Given the description of an element on the screen output the (x, y) to click on. 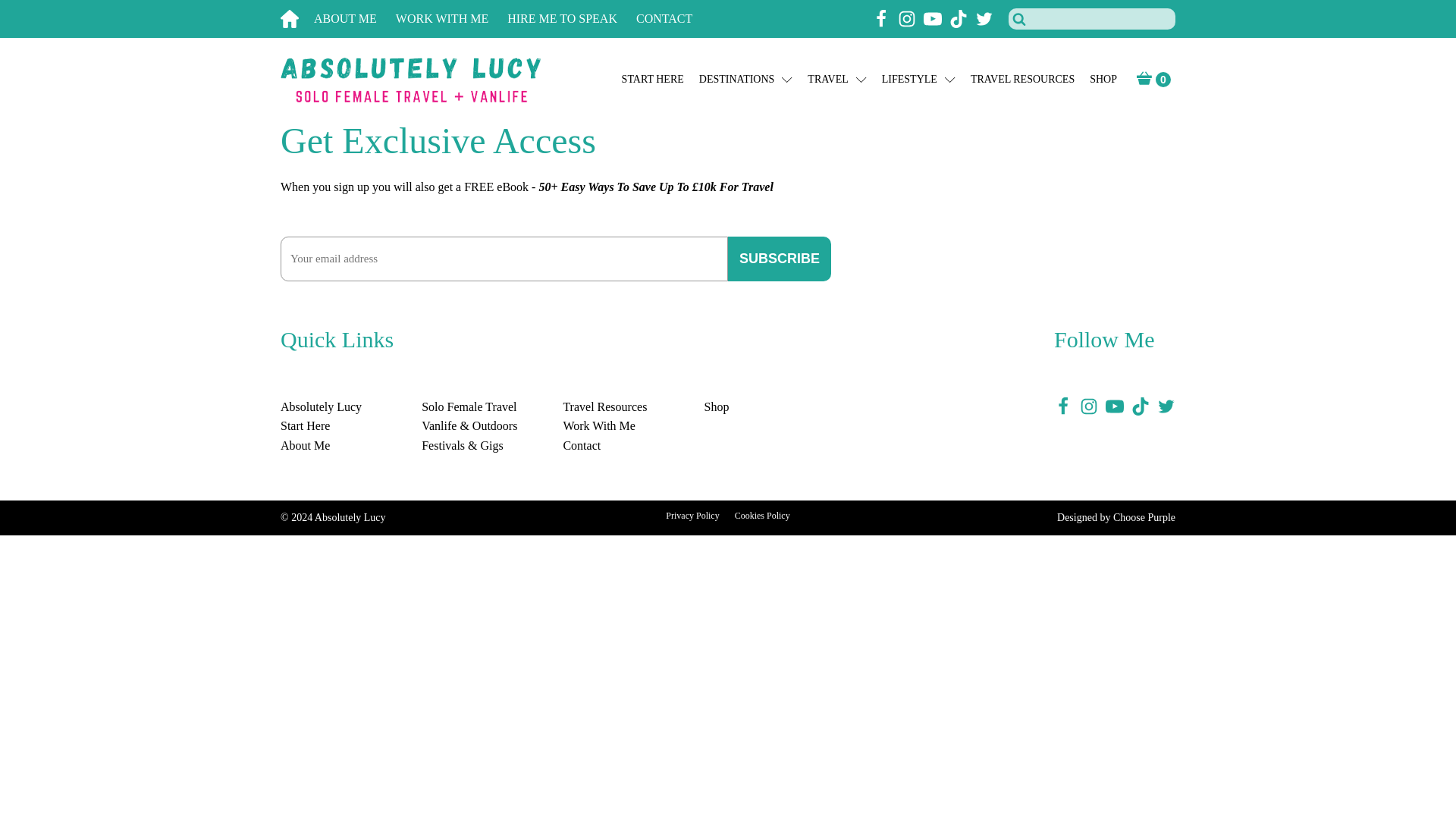
SHOP (1102, 79)
Search (31, 13)
TRAVEL (837, 79)
Subscribe (779, 258)
TRAVEL RESOURCES (1022, 79)
HIRE ME TO SPEAK (571, 19)
DESTINATIONS (745, 79)
LIFESTYLE (918, 79)
START HERE (652, 79)
WORK WITH ME (451, 19)
ABOUT ME (355, 19)
CONTACT (673, 19)
